Given the description of an element on the screen output the (x, y) to click on. 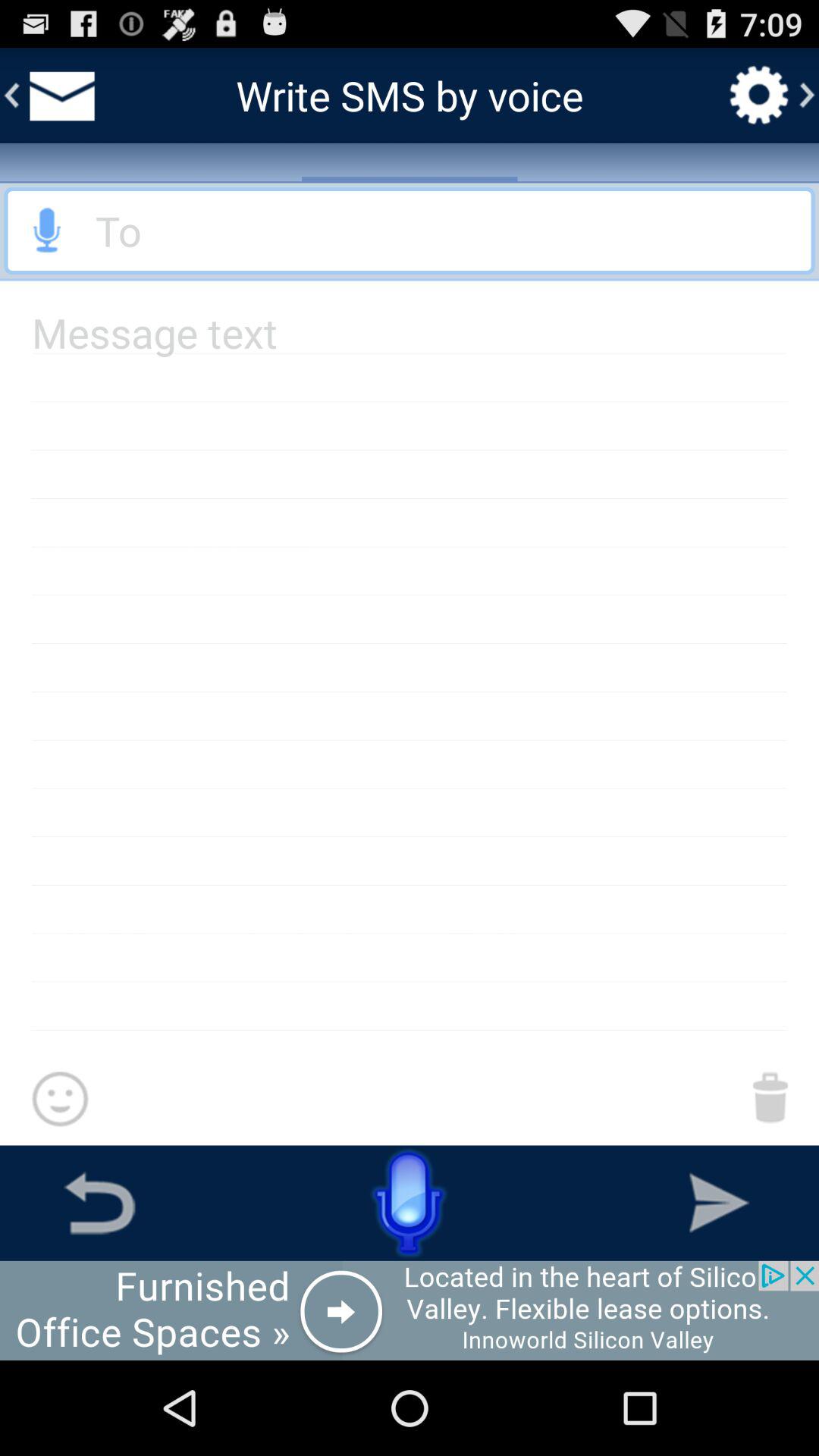
emojoy (59, 1099)
